Given the description of an element on the screen output the (x, y) to click on. 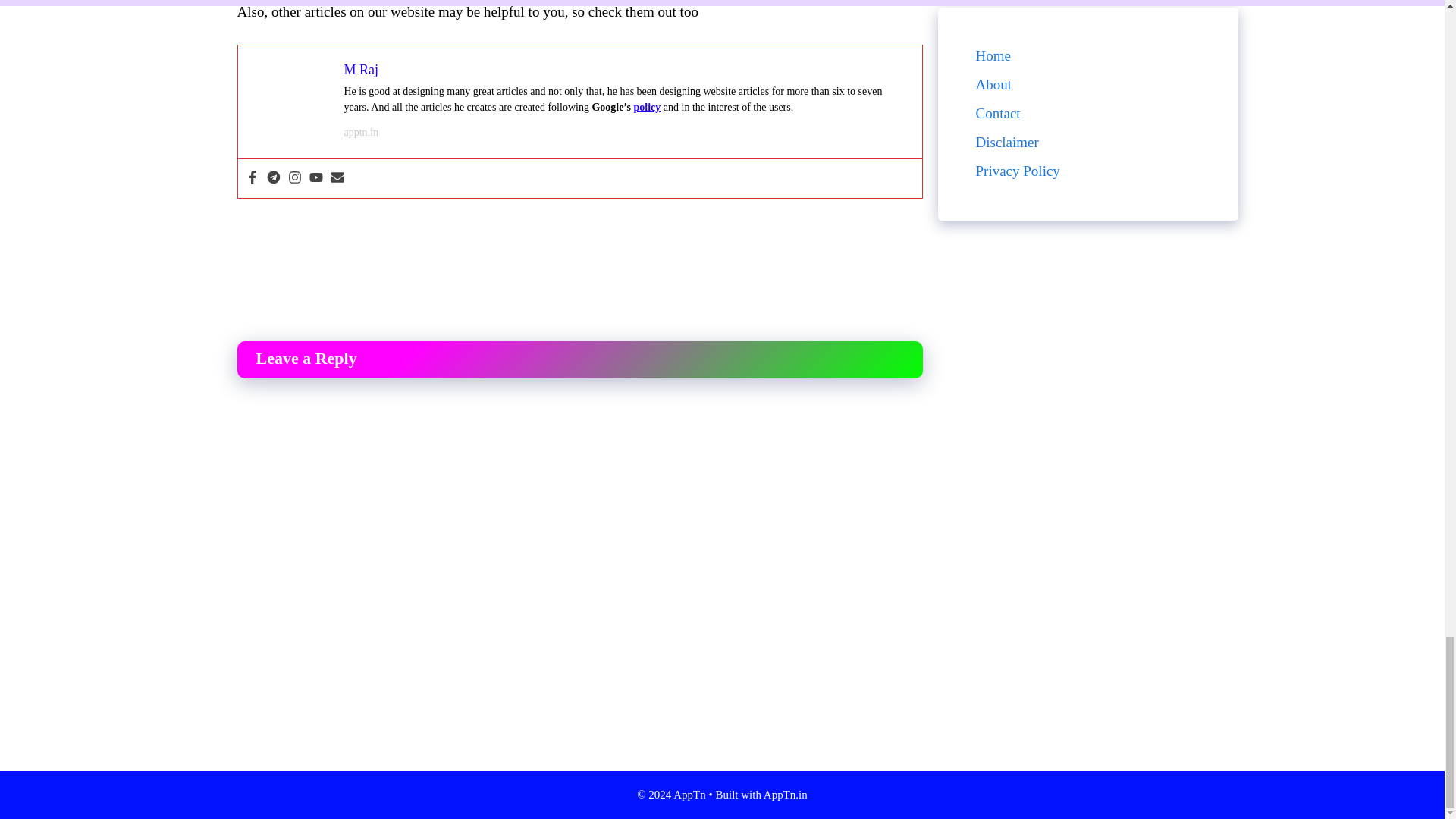
What Is The Requirement of Battery Charging Photo App? 3 (291, 98)
M Raj (360, 69)
apptn.in (360, 132)
policy (647, 107)
